Given the description of an element on the screen output the (x, y) to click on. 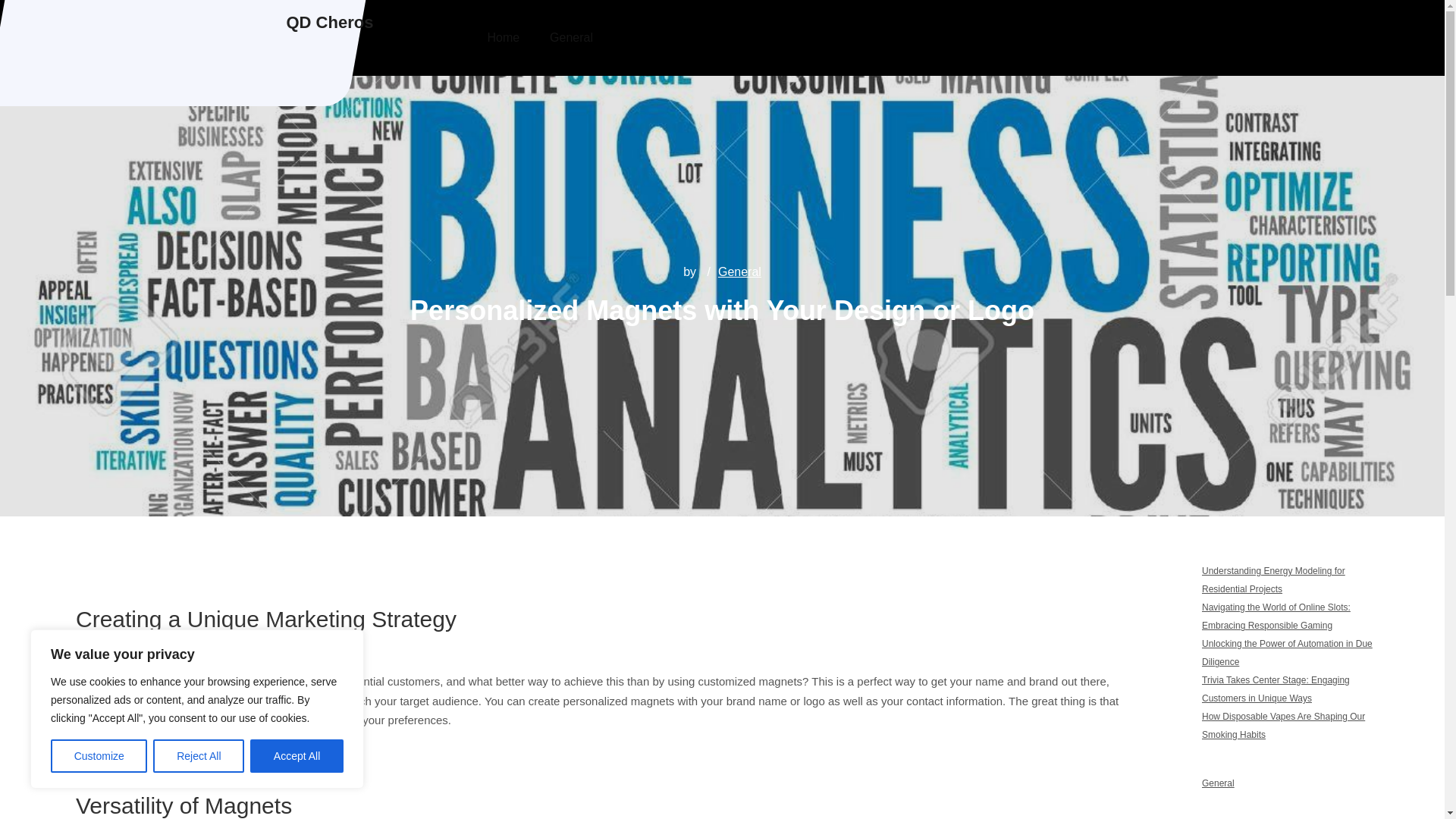
How Disposable Vapes Are Shaping Our Smoking Habits (1283, 725)
General (1218, 783)
General (571, 38)
General (739, 271)
Trivia Takes Center Stage: Engaging Customers in Unique Ways (1275, 688)
QD Cheros (330, 22)
Accept All (296, 756)
Understanding Energy Modeling for Residential Projects (1273, 579)
Reject All (198, 756)
